Given the description of an element on the screen output the (x, y) to click on. 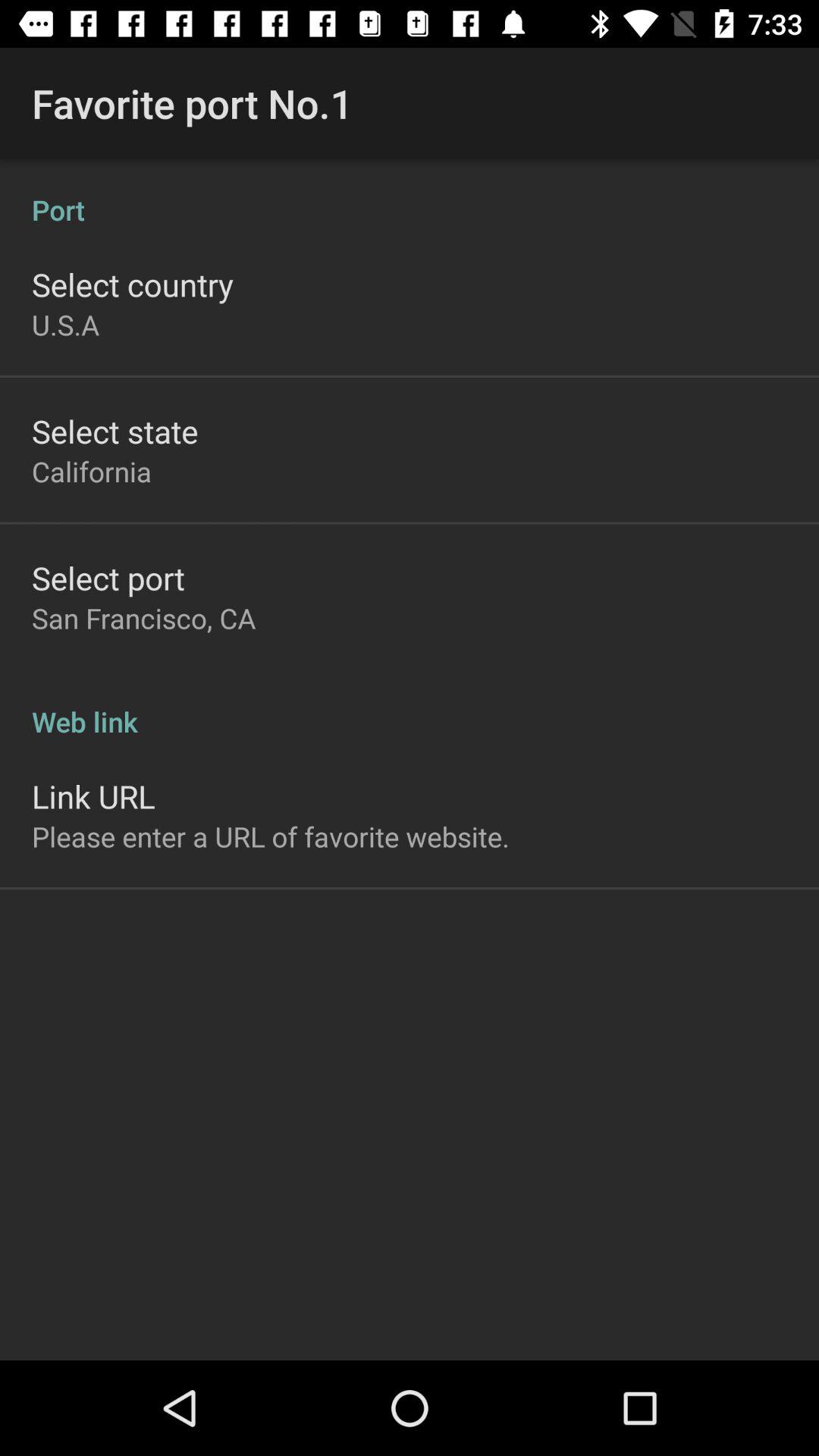
launch the item above web link item (143, 618)
